Given the description of an element on the screen output the (x, y) to click on. 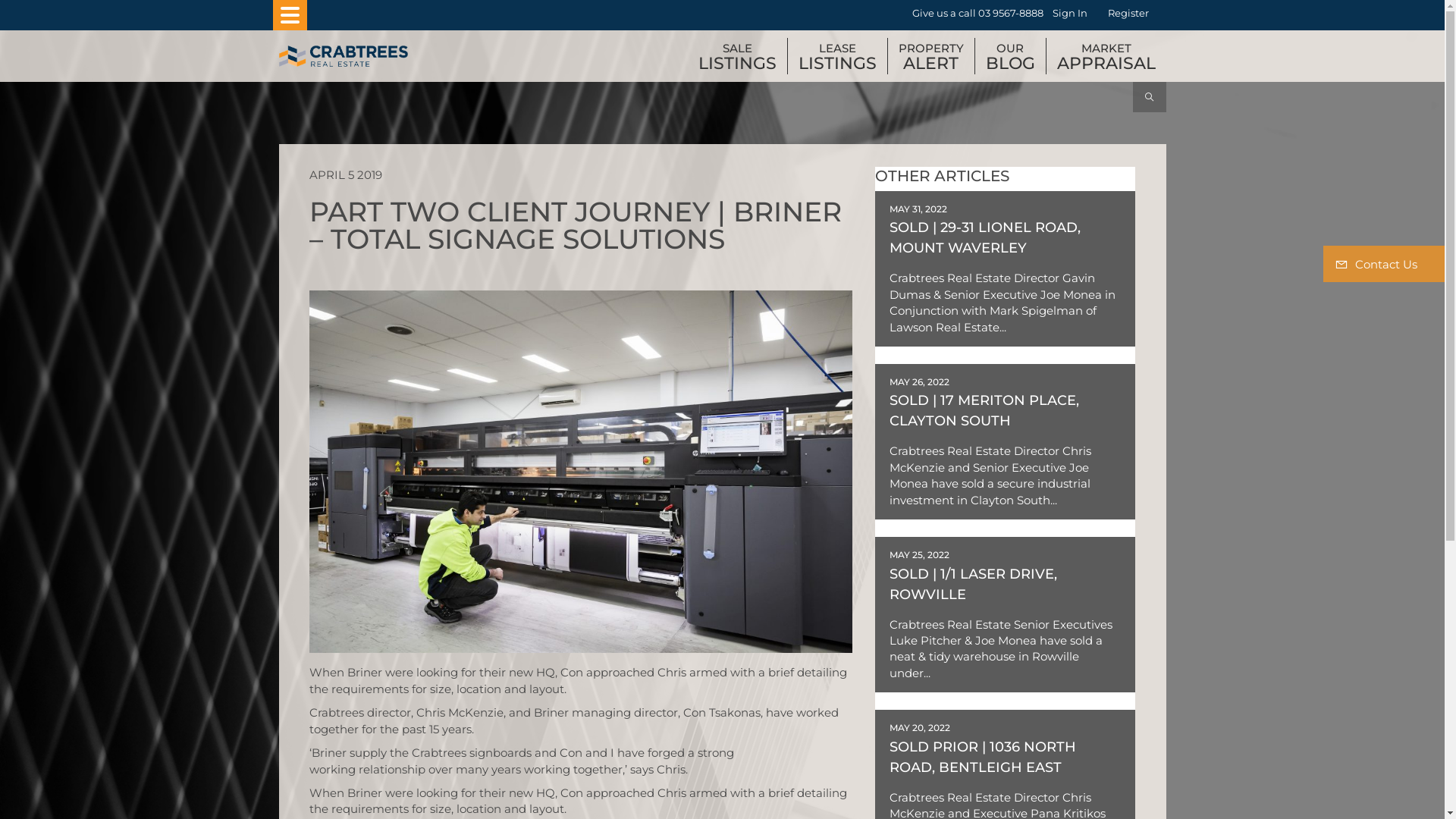
Contact Us Element type: text (1383, 263)
APRIL 5 2019 Element type: text (345, 174)
SALE
LISTINGS Element type: text (736, 55)
PROPERTY
ALERT Element type: text (930, 55)
Give us a call 03 9567-8888 Element type: text (976, 13)
LEASE
LISTINGS Element type: text (836, 55)
Register Element type: text (1128, 13)
Sign In Element type: text (1069, 13)
OUR
BLOG Element type: text (1010, 55)
MARKET
APPRAISAL Element type: text (1106, 55)
